Given the description of an element on the screen output the (x, y) to click on. 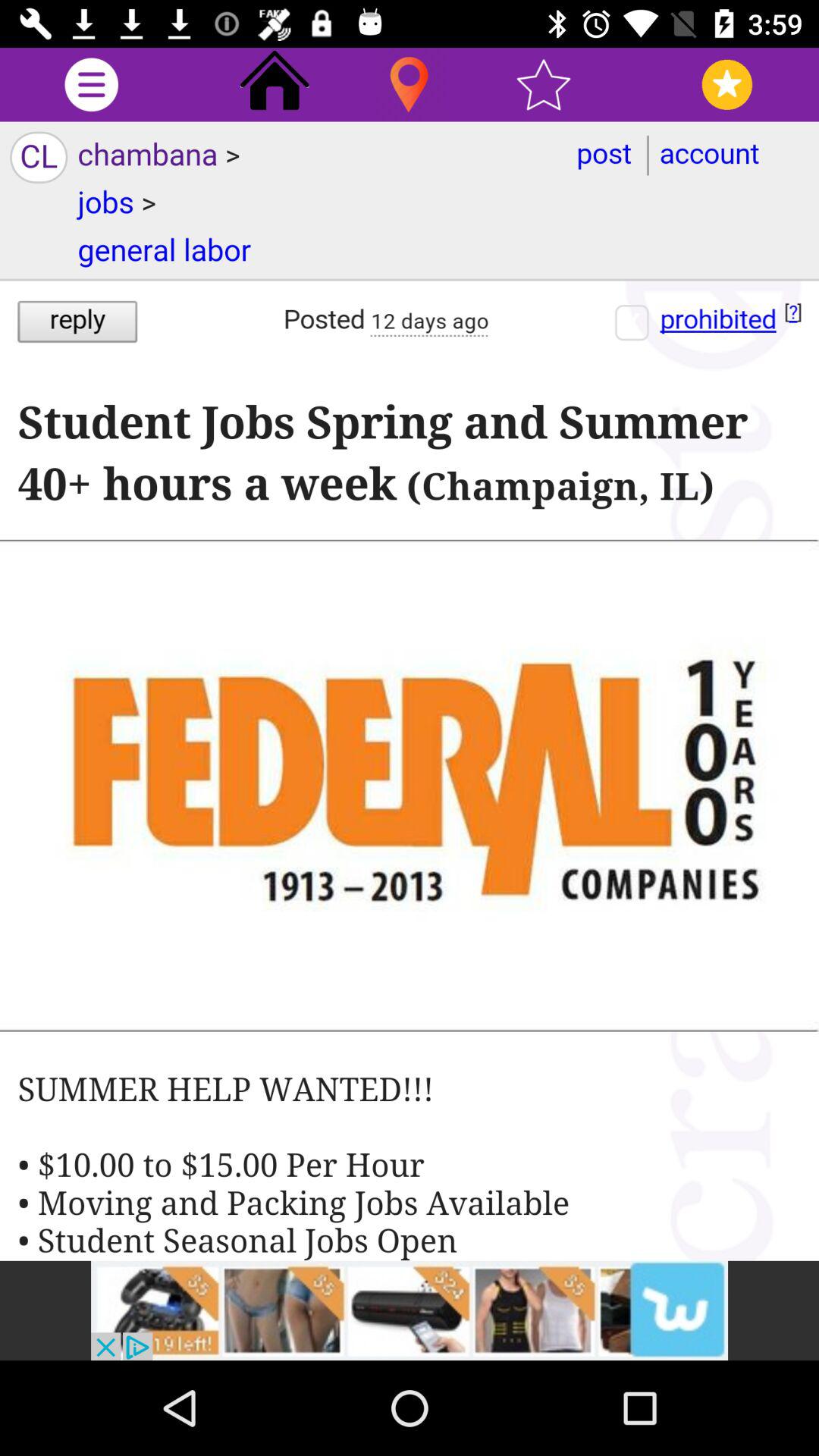
add favorite (543, 84)
